Given the description of an element on the screen output the (x, y) to click on. 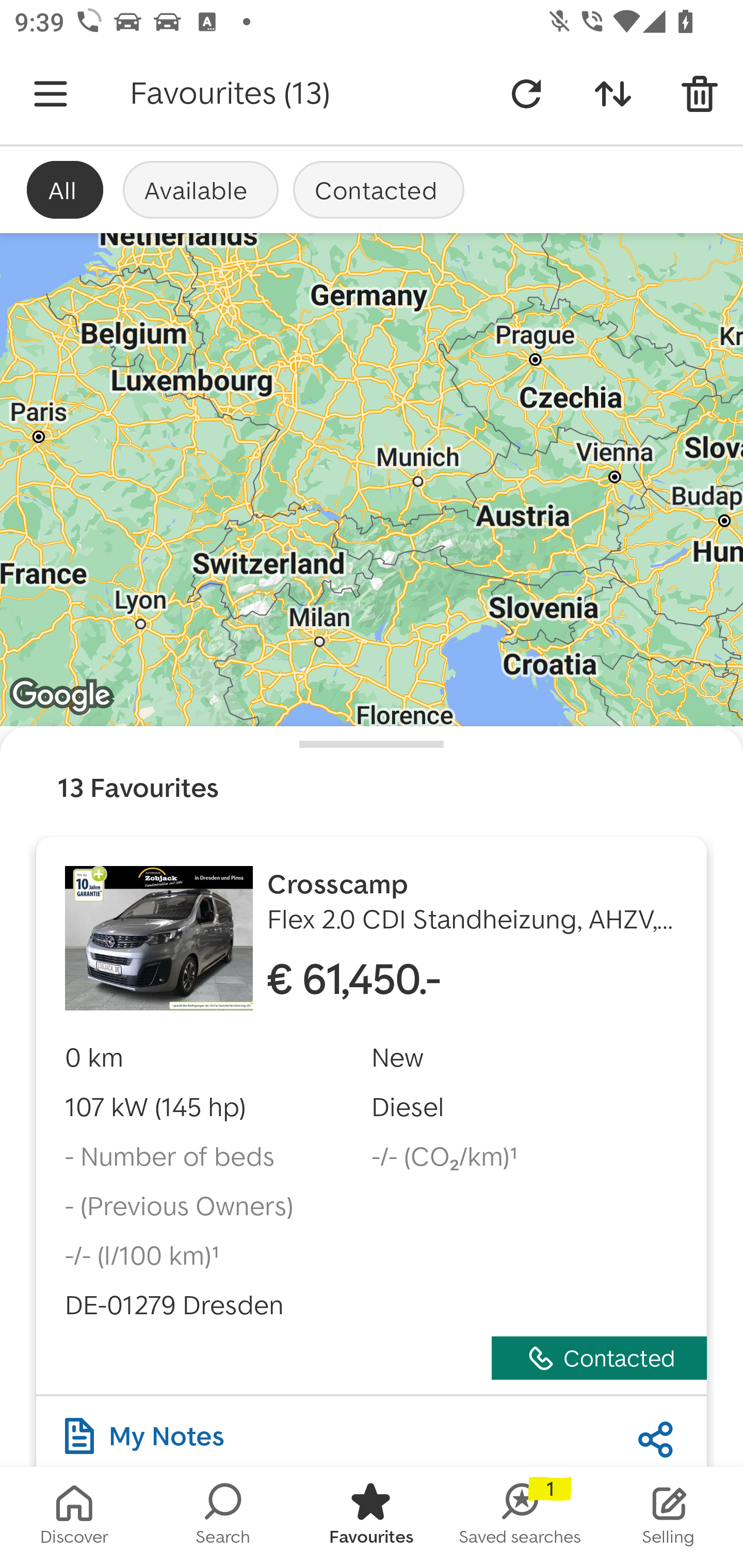
Navigate up (50, 93)
Sort (612, 93)
Delete vehicles (699, 93)
All (64, 189)
Available (200, 189)
Contacted (378, 189)
Google Map (371, 479)
My Notes (144, 1431)
HOMESCREEN Discover (74, 1517)
SEARCH Search (222, 1517)
FAVORITES Favourites (371, 1517)
SAVED_SEARCHES Saved searches 1 (519, 1517)
STOCK_LIST Selling (668, 1517)
